Given the description of an element on the screen output the (x, y) to click on. 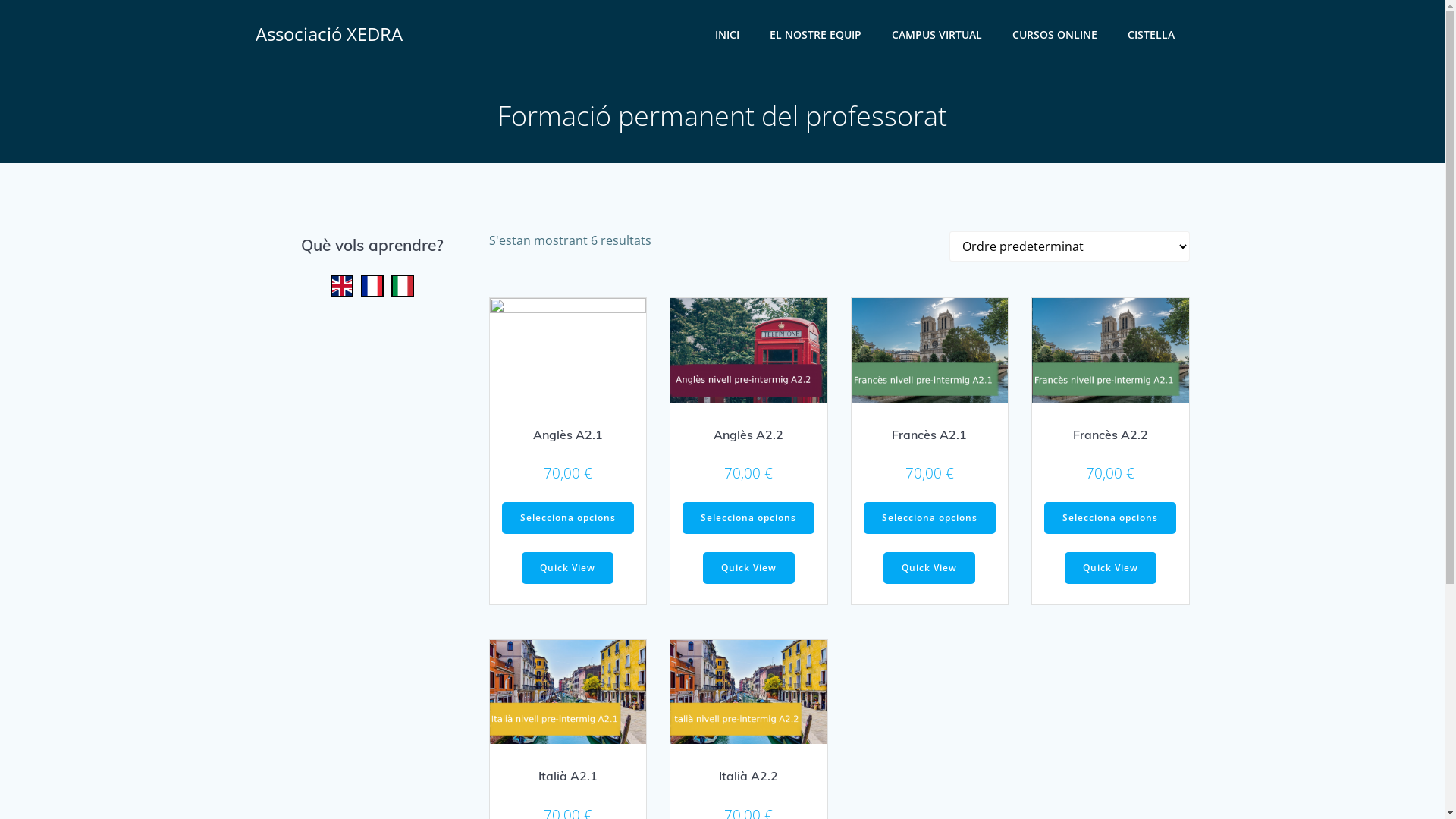
EL NOSTRE EQUIP Element type: text (814, 33)
Quick View Element type: text (1110, 567)
Quick View Element type: text (567, 567)
CURSOS ONLINE Element type: text (1053, 33)
Selecciona opcions Element type: text (929, 517)
CISTELLA Element type: text (1149, 33)
Selecciona opcions Element type: text (748, 517)
Selecciona opcions Element type: text (567, 517)
INICI Element type: text (726, 33)
CAMPUS VIRTUAL Element type: text (936, 33)
Quick View Element type: text (748, 567)
Selecciona opcions Element type: text (1110, 517)
Quick View Element type: text (929, 567)
